Given the description of an element on the screen output the (x, y) to click on. 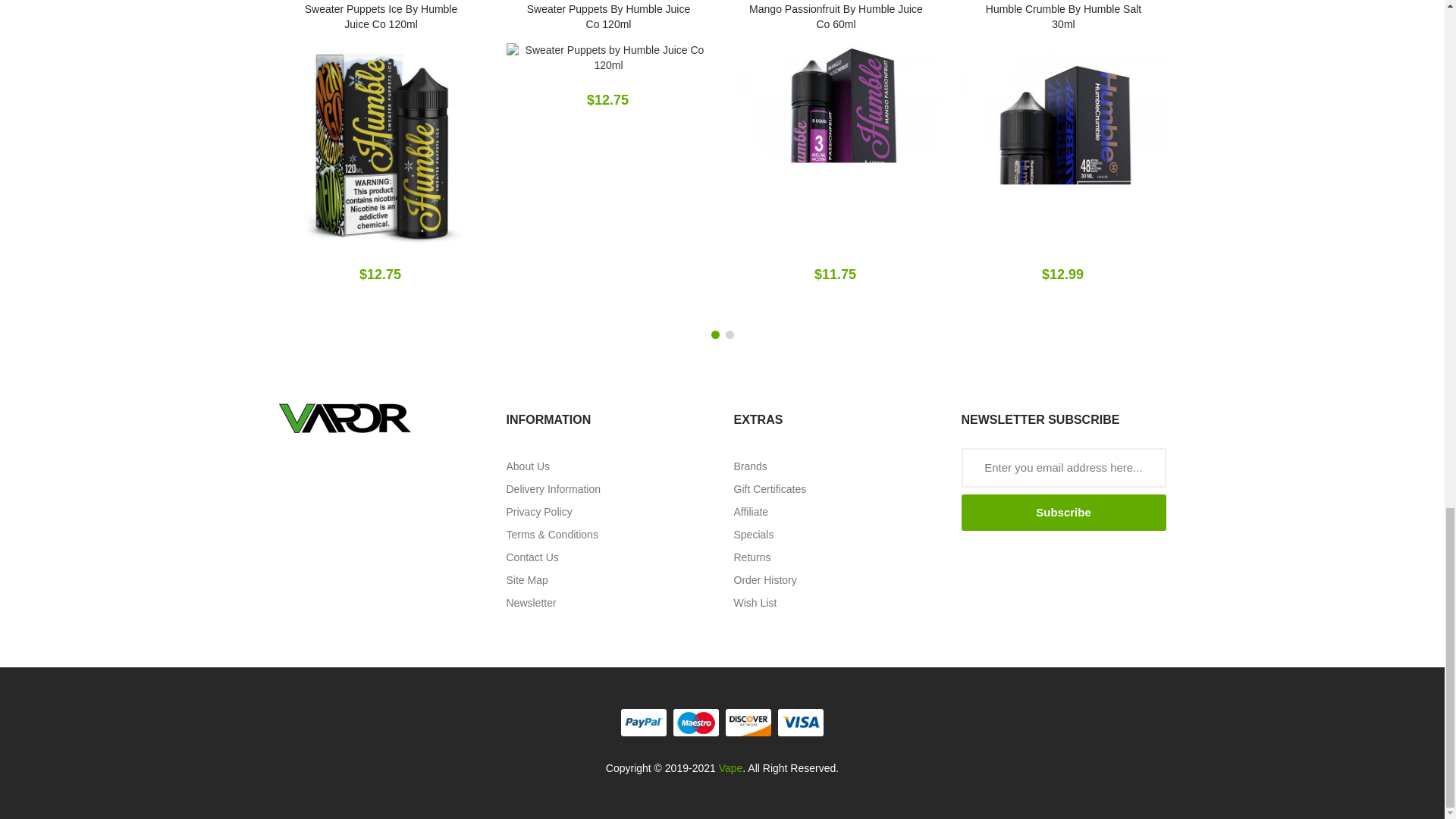
Sweater Puppets Ice by Humble Juice Co 120ml (381, 145)
Sweater Puppets by Humble Juice Co 120ml (608, 58)
